Given the description of an element on the screen output the (x, y) to click on. 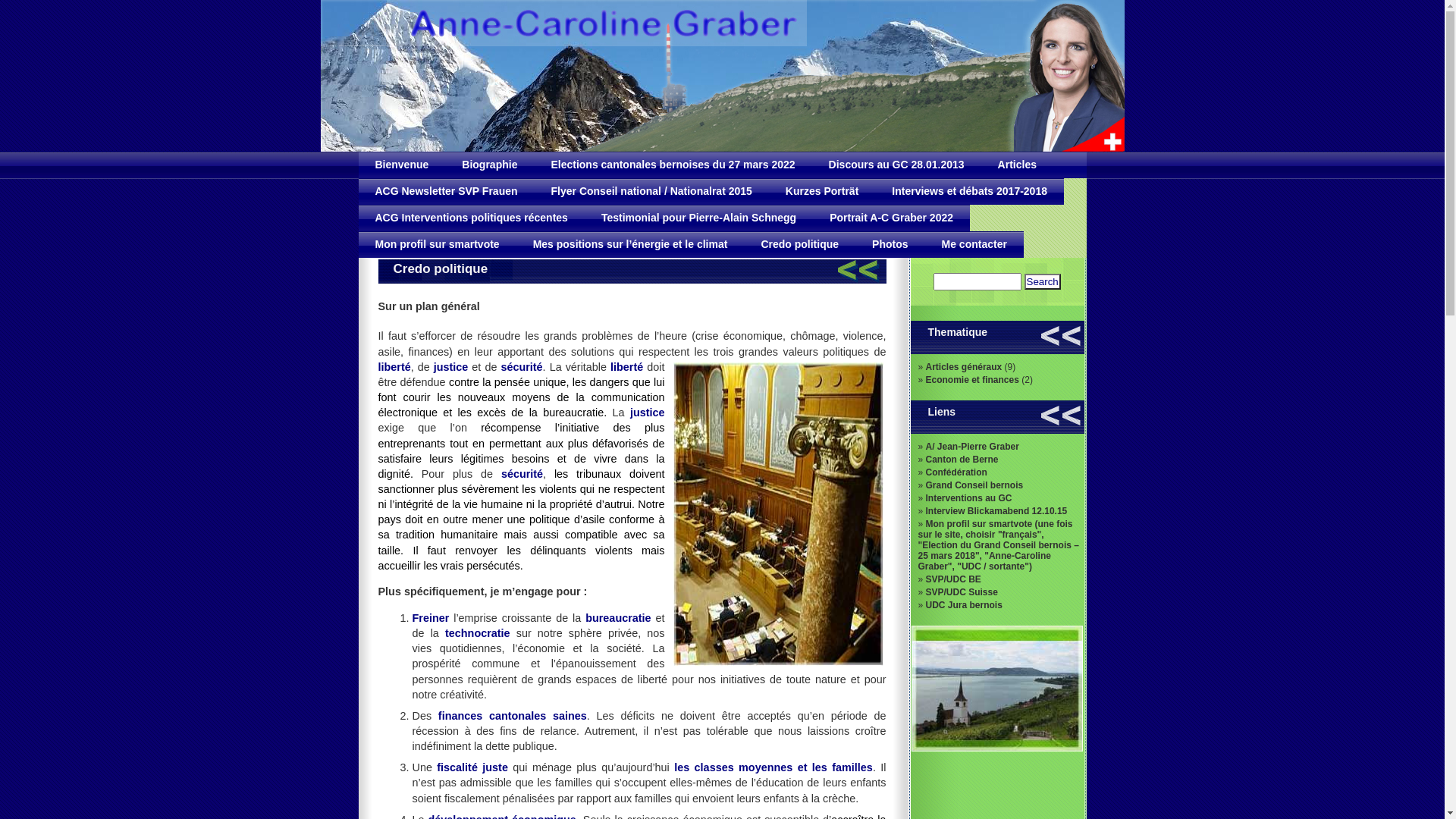
Elections cantonales bernoises du 27 mars 2022 Element type: text (672, 164)
A/ Jean-Pierre Graber Element type: text (972, 446)
SVP/UDC Suisse Element type: text (961, 591)
Credo politique Element type: text (799, 244)
Biographie Element type: text (489, 164)
Interview Blickamabend 12.10.15 Element type: text (996, 510)
Economie et finances Element type: text (972, 379)
justice Element type: hover (778, 513)
Articles Element type: text (1017, 164)
ACG Newsletter SVP Frauen Element type: text (445, 191)
Flyer Conseil national / Nationalrat 2015 Element type: text (651, 191)
Portrait A-C Graber 2022 Element type: text (890, 217)
Photos Element type: text (889, 244)
Canton de Berne Element type: text (961, 459)
Mon profil sur smartvote Element type: text (436, 244)
Discours au GC 28.01.2013 Element type: text (896, 164)
SVP/UDC BE Element type: text (953, 579)
Testimonial pour Pierre-Alain Schnegg Element type: text (698, 217)
Bienvenue Element type: text (401, 164)
Me contacter Element type: text (974, 244)
UDC Jura bernois Element type: text (963, 604)
Grand Conseil bernois Element type: text (974, 485)
Search Element type: text (1042, 281)
Interventions au GC Element type: text (968, 497)
